Given the description of an element on the screen output the (x, y) to click on. 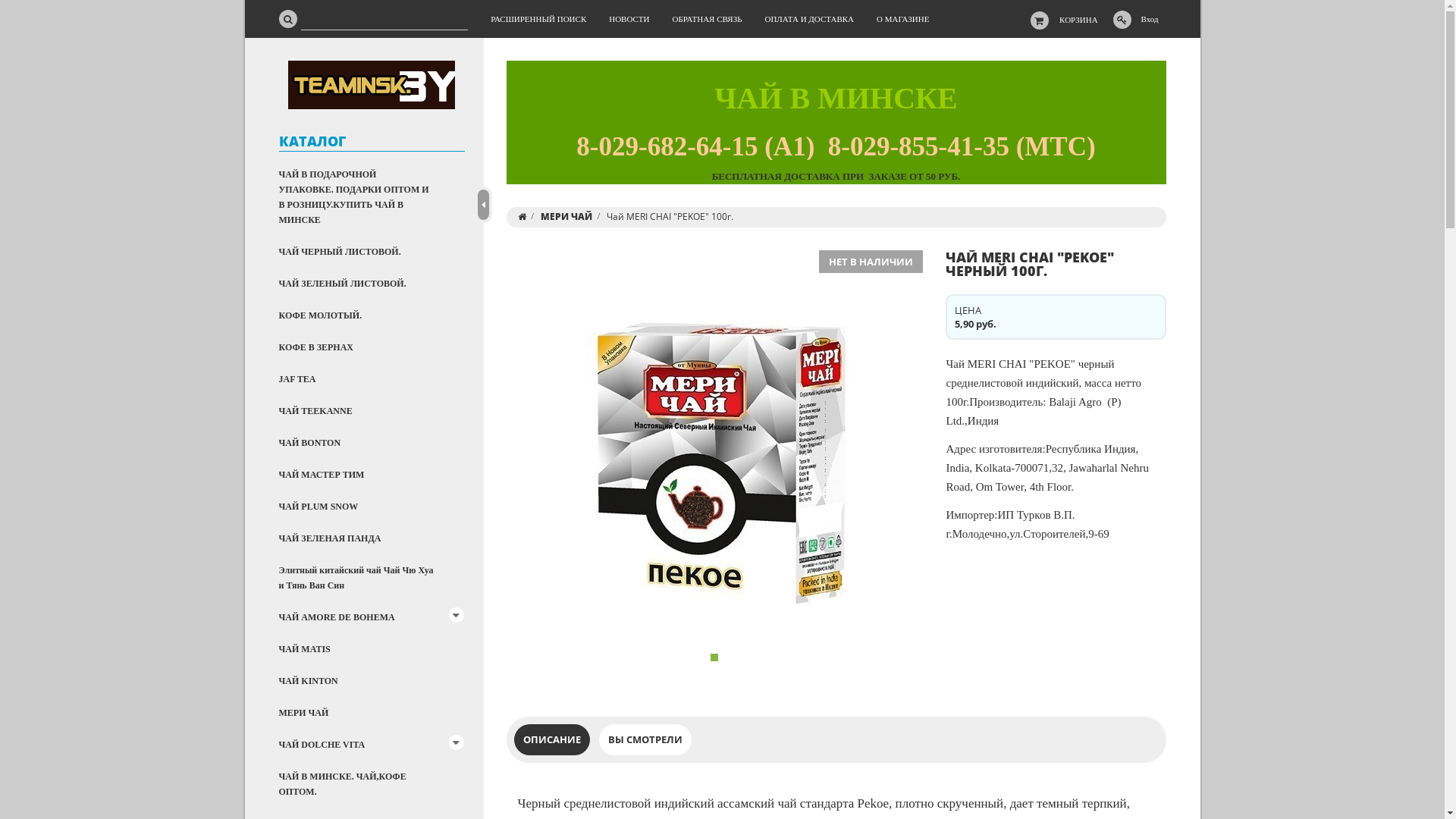
JAF TEA Element type: text (377, 379)
0 Element type: text (714, 657)
teaminsk.by Element type: hover (371, 84)
